Given the description of an element on the screen output the (x, y) to click on. 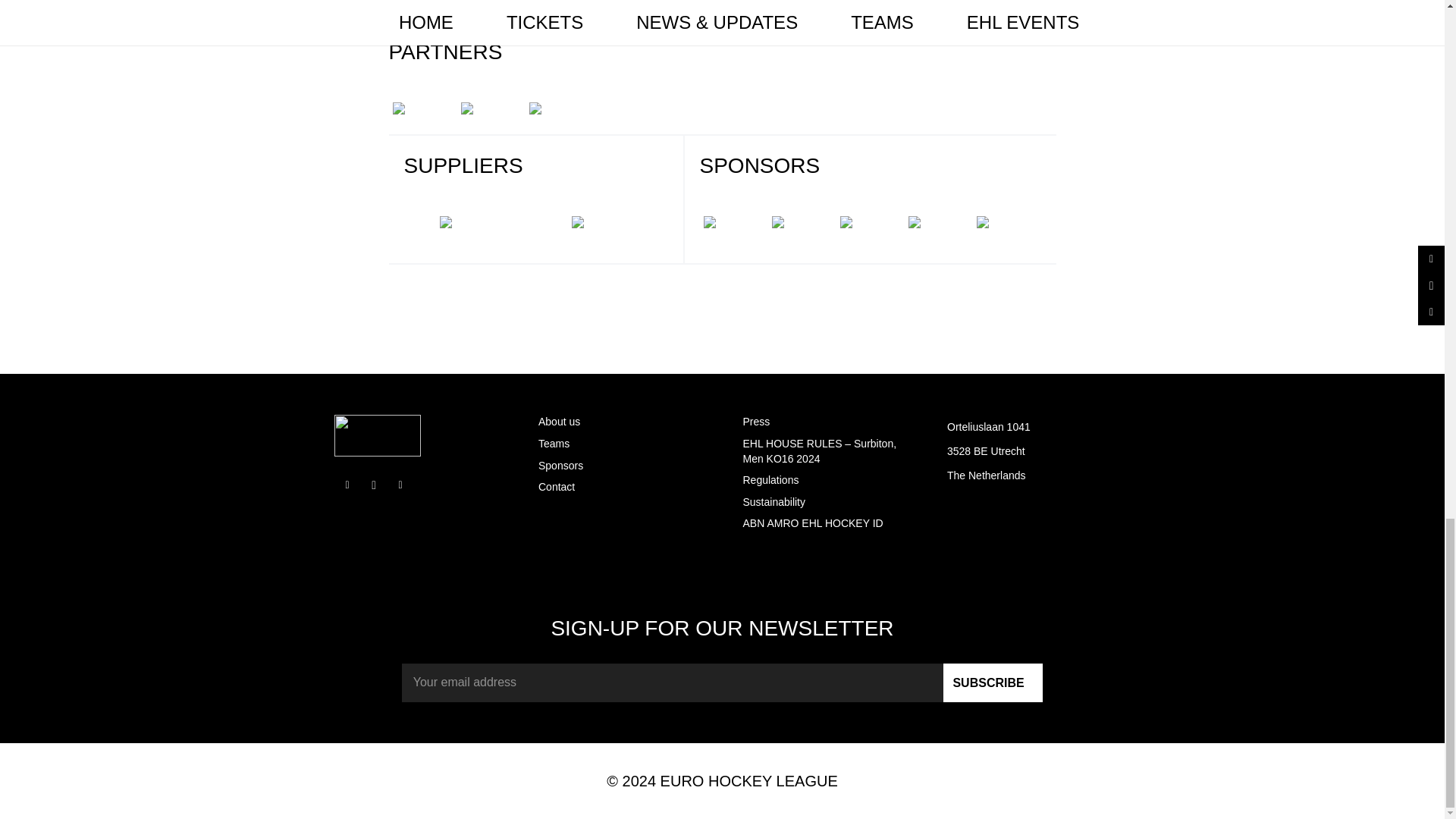
ABN AMRO EHL HOCKEY ID (812, 522)
Teams (553, 443)
Subscribe (992, 682)
Contact (556, 486)
Facebook (346, 484)
Regulations (770, 480)
About us (558, 421)
Instagram (374, 484)
Twitter (400, 484)
Sustainability (774, 501)
